Given the description of an element on the screen output the (x, y) to click on. 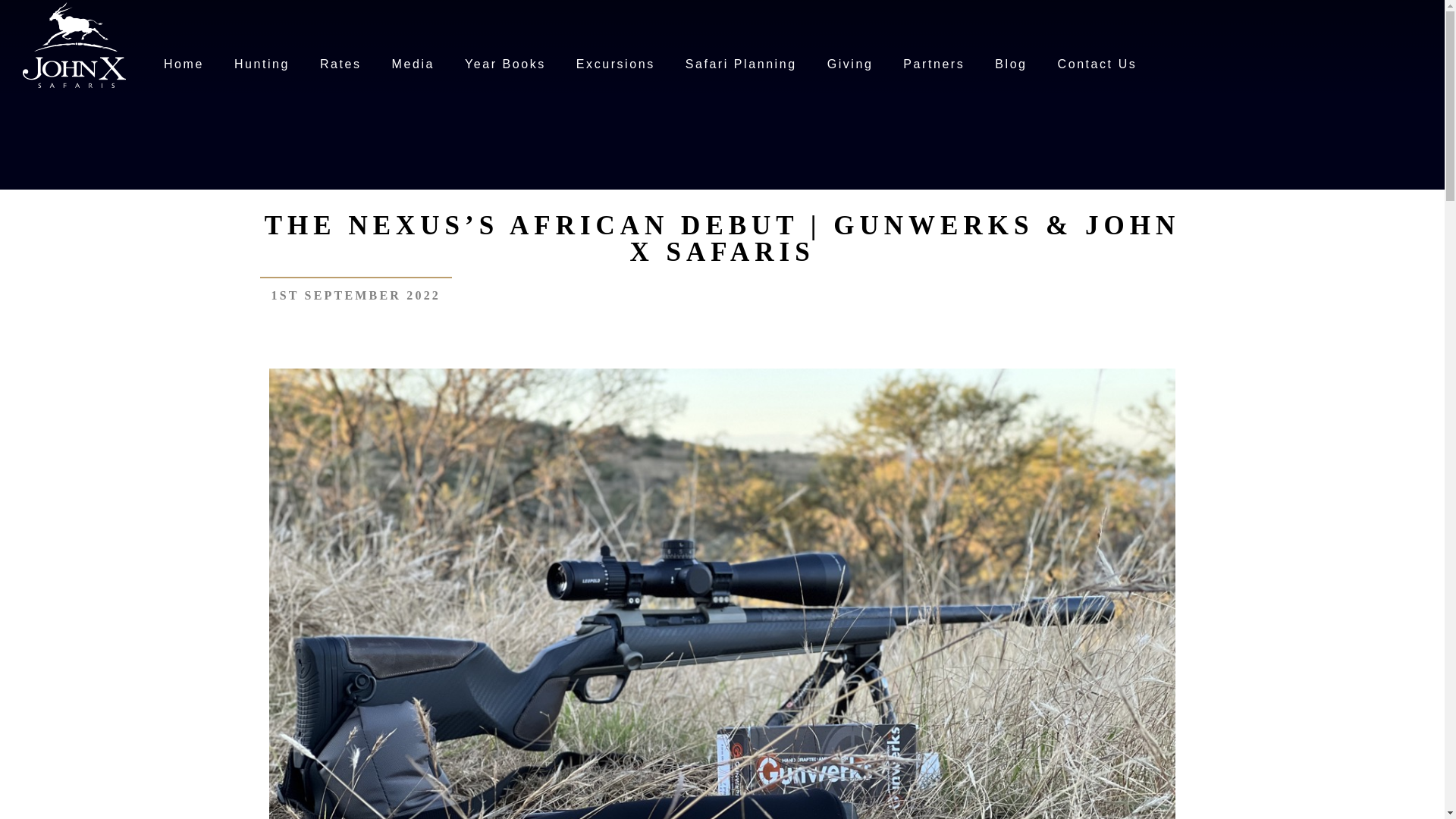
Rates (340, 64)
Excursions (614, 64)
Year Books (504, 64)
Home (183, 64)
Safari Planning (740, 64)
John X Safaris (74, 43)
Hunting (261, 64)
Media (413, 64)
